Given the description of an element on the screen output the (x, y) to click on. 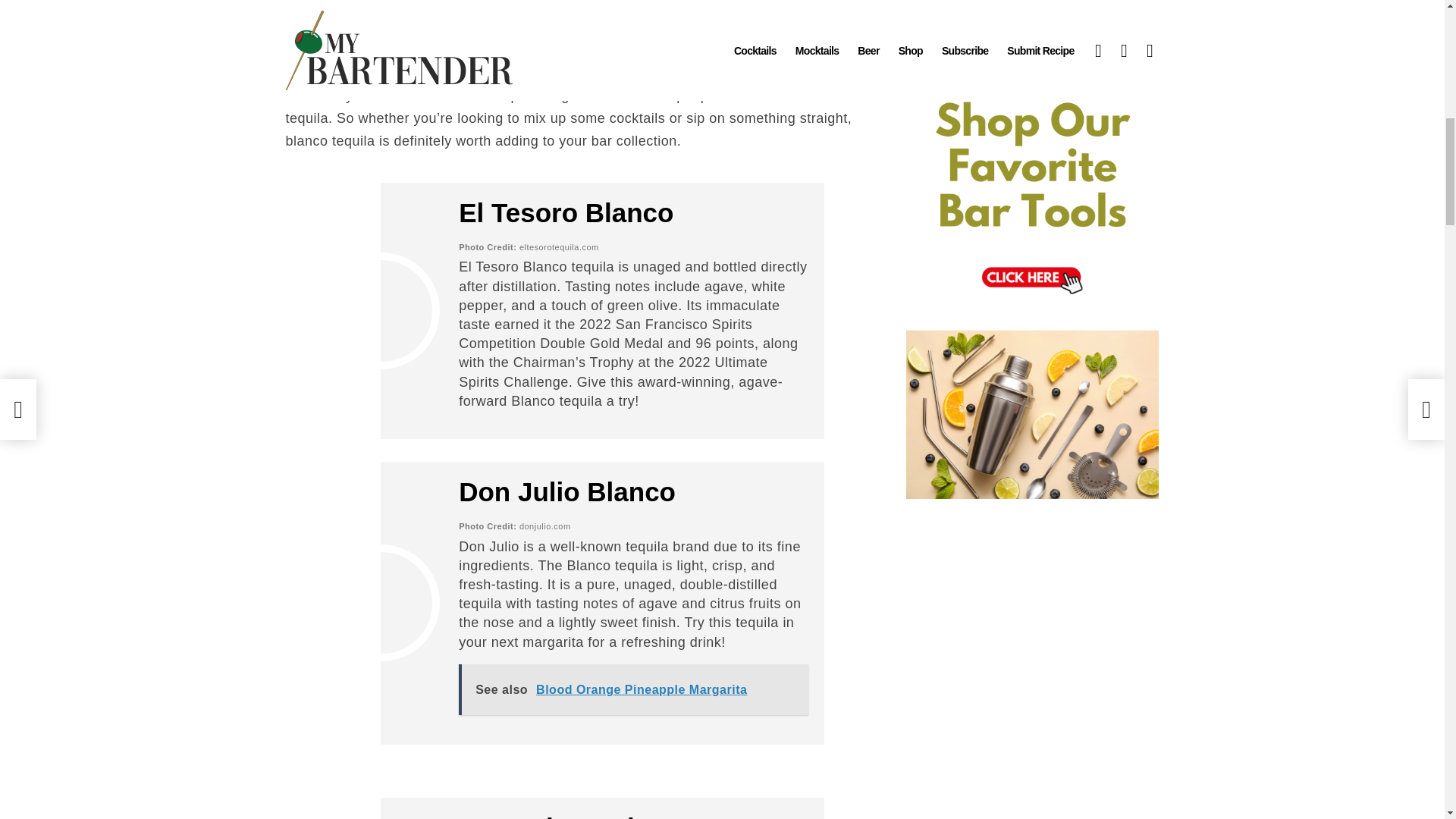
El Tesoro Blanco (565, 212)
See also  Blood Orange Pineapple Margarita (633, 689)
Don Julio Blanco (566, 491)
10 Must-Try Blanco Tequilas 3 (381, 602)
10 Must-Try Blanco Tequilas 2 (381, 310)
Casamigos Blanco (576, 816)
